Given the description of an element on the screen output the (x, y) to click on. 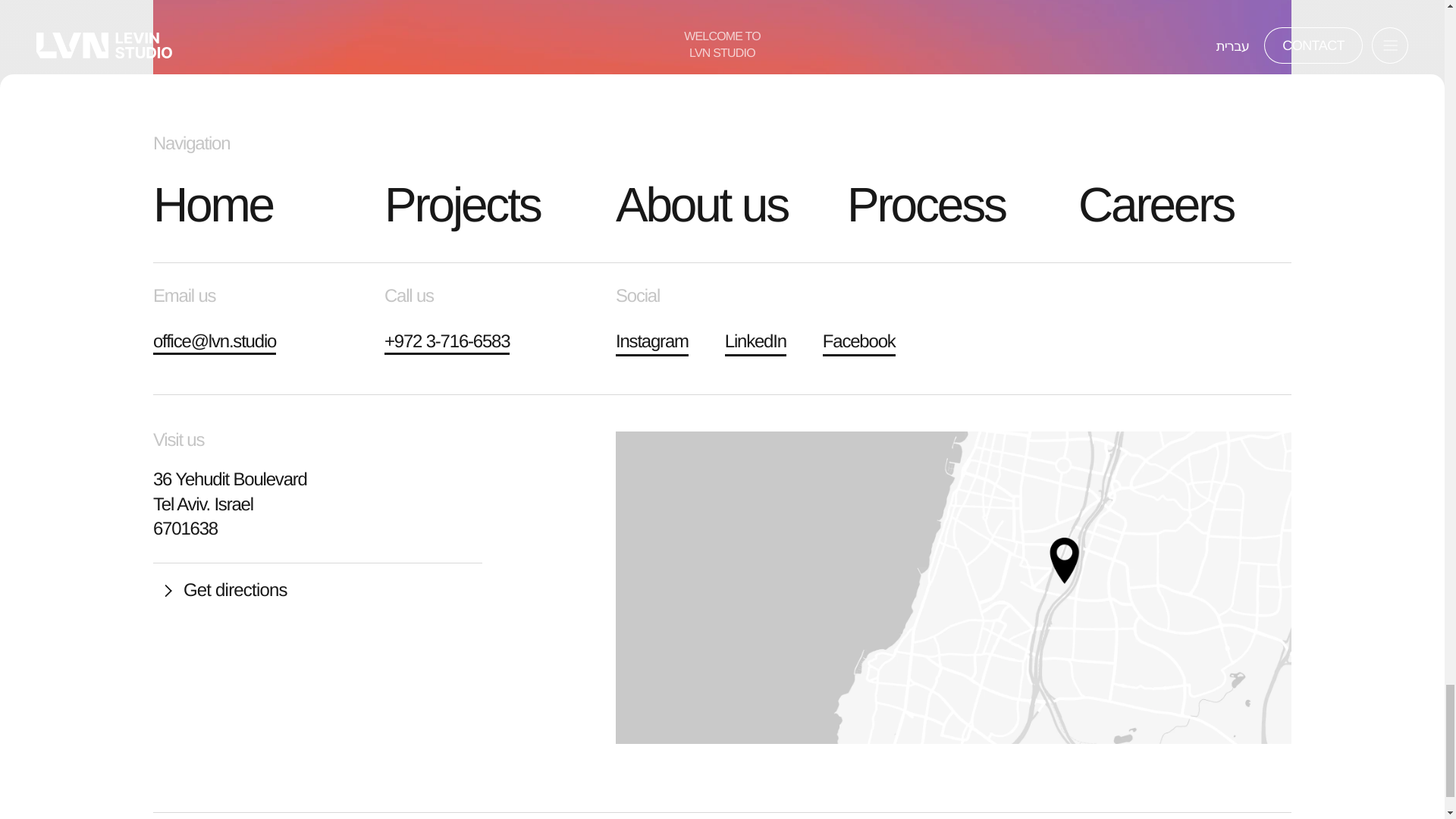
Home (259, 204)
About us (721, 204)
Process (953, 204)
Instagram (652, 341)
Careers (1184, 204)
LinkedIn (755, 341)
Projects (490, 204)
